Given the description of an element on the screen output the (x, y) to click on. 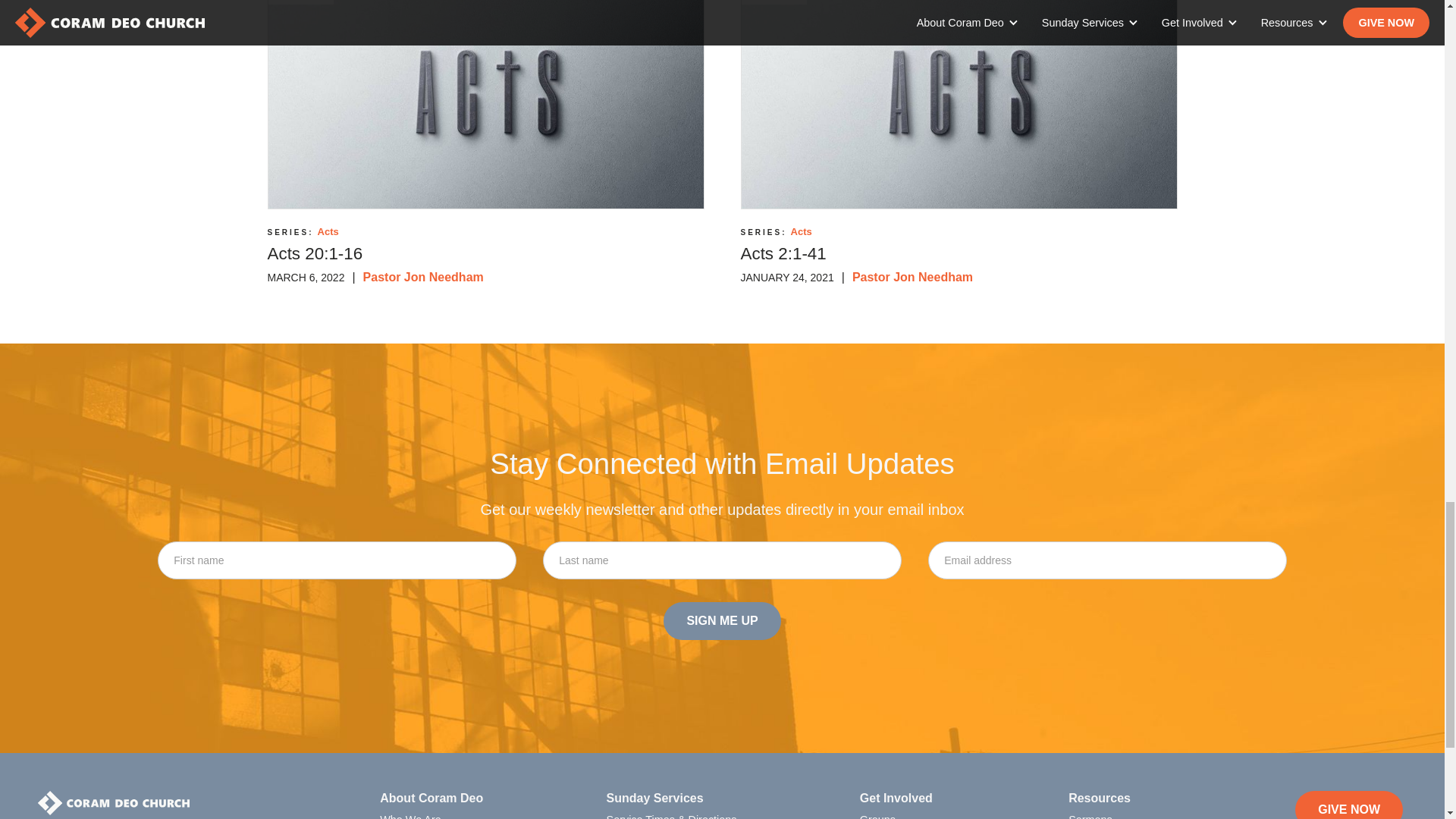
Sign Me Up (721, 620)
